Given the description of an element on the screen output the (x, y) to click on. 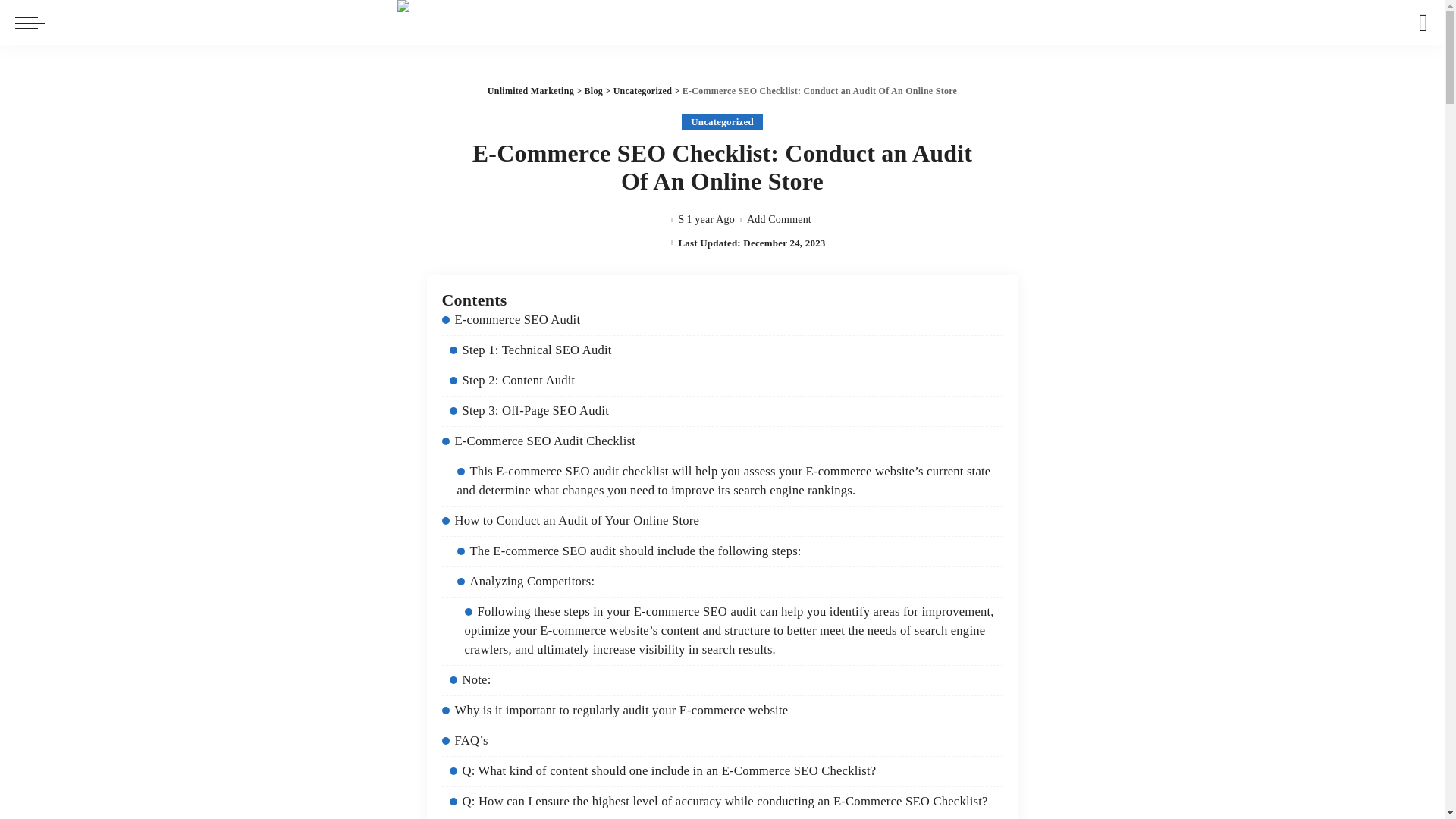
How to Conduct an Audit of Your Online Store (569, 520)
Unlimited Marketing (530, 90)
Blog (593, 90)
E-commerce SEO Audit (510, 319)
Analyzing Competitors: (525, 581)
Uncategorized (642, 90)
Note: (469, 679)
E-Commerce SEO Audit Checklist (537, 440)
